Given the description of an element on the screen output the (x, y) to click on. 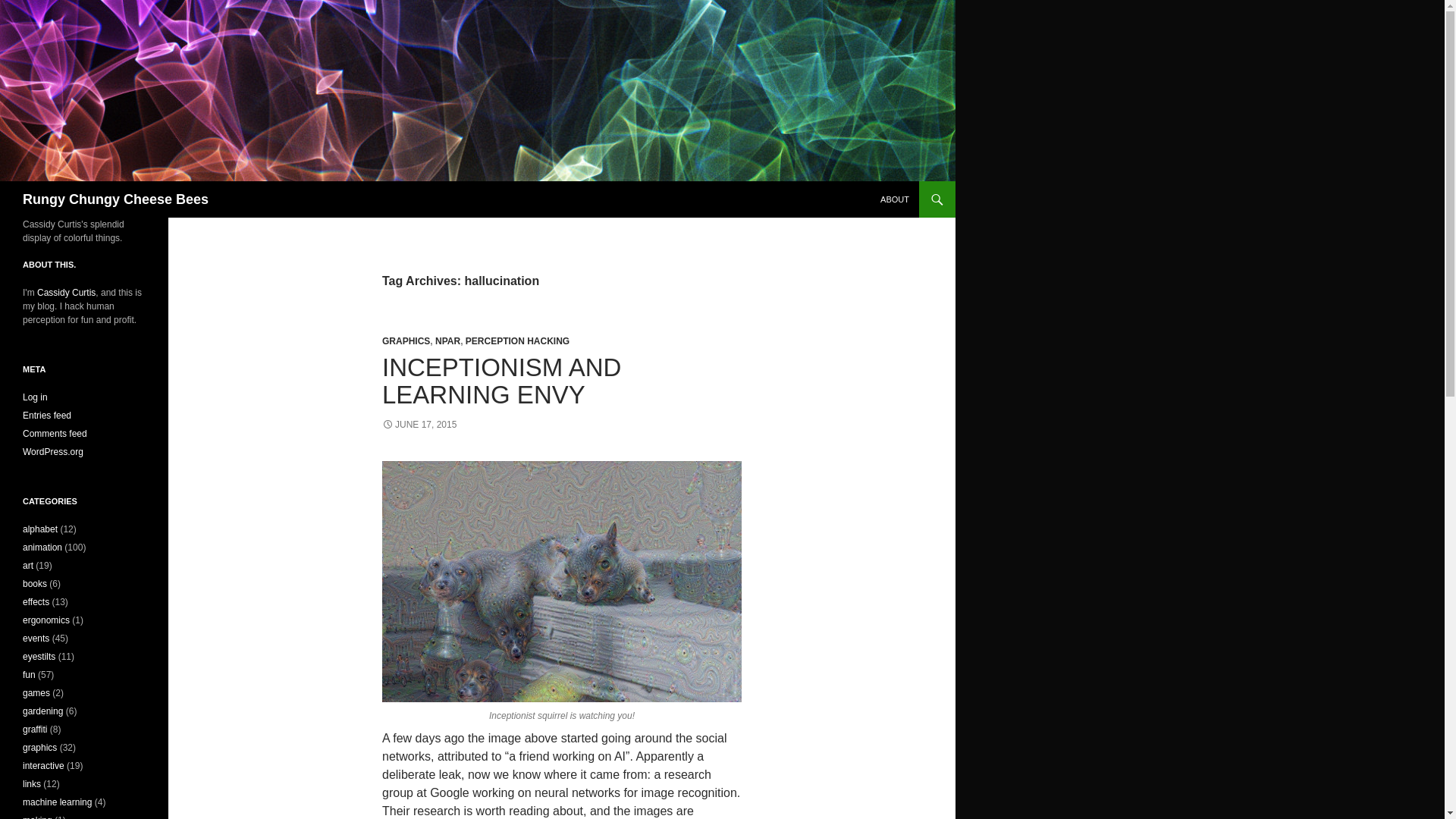
effects (36, 602)
gardening (42, 710)
fun (28, 674)
art (28, 565)
Entries feed (47, 415)
WordPress.org (52, 451)
Rungy Chungy Cheese Bees (115, 198)
eyestilts (39, 656)
interactive (43, 765)
